Given the description of an element on the screen output the (x, y) to click on. 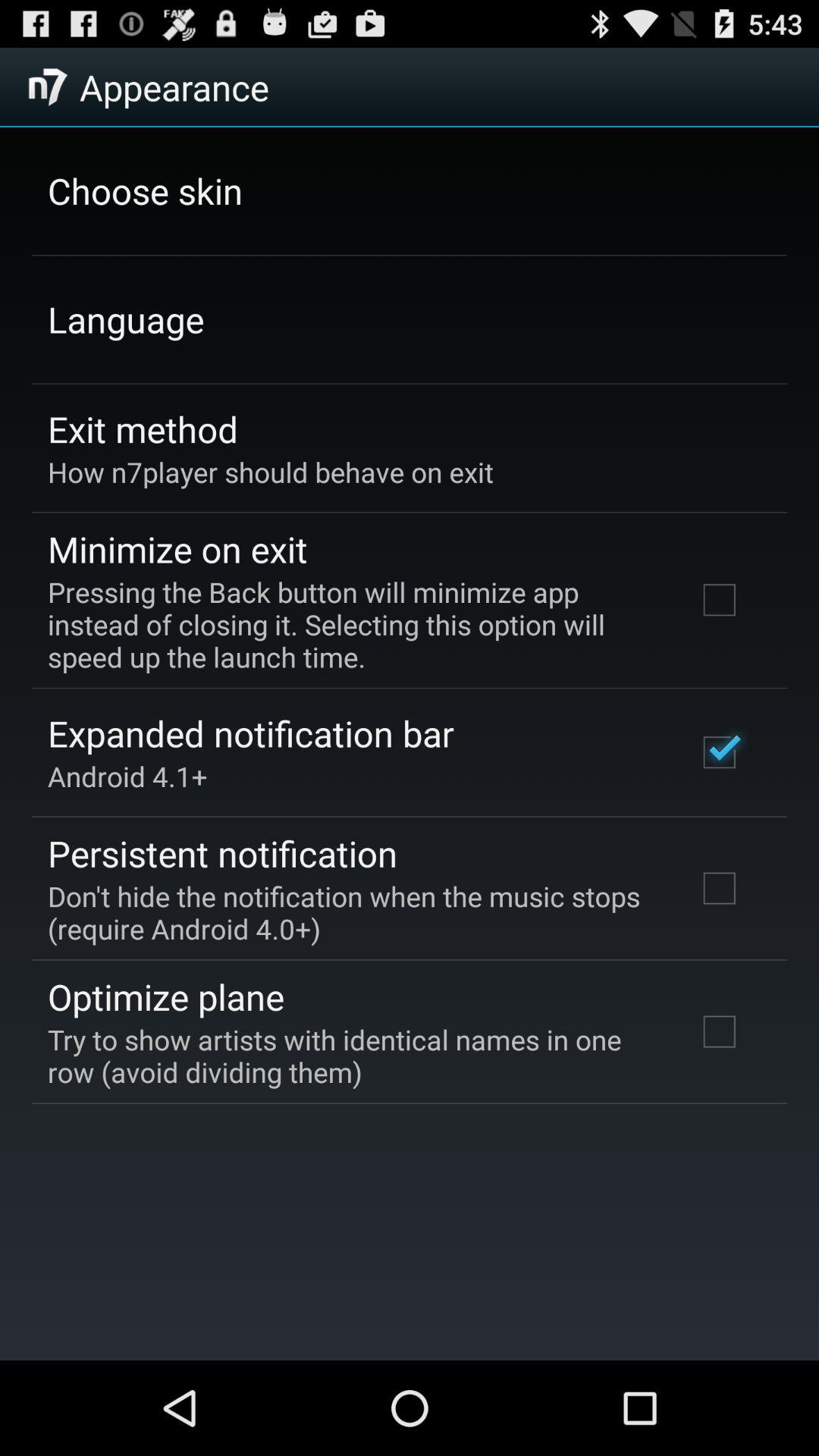
turn on the persistent notification item (222, 853)
